Given the description of an element on the screen output the (x, y) to click on. 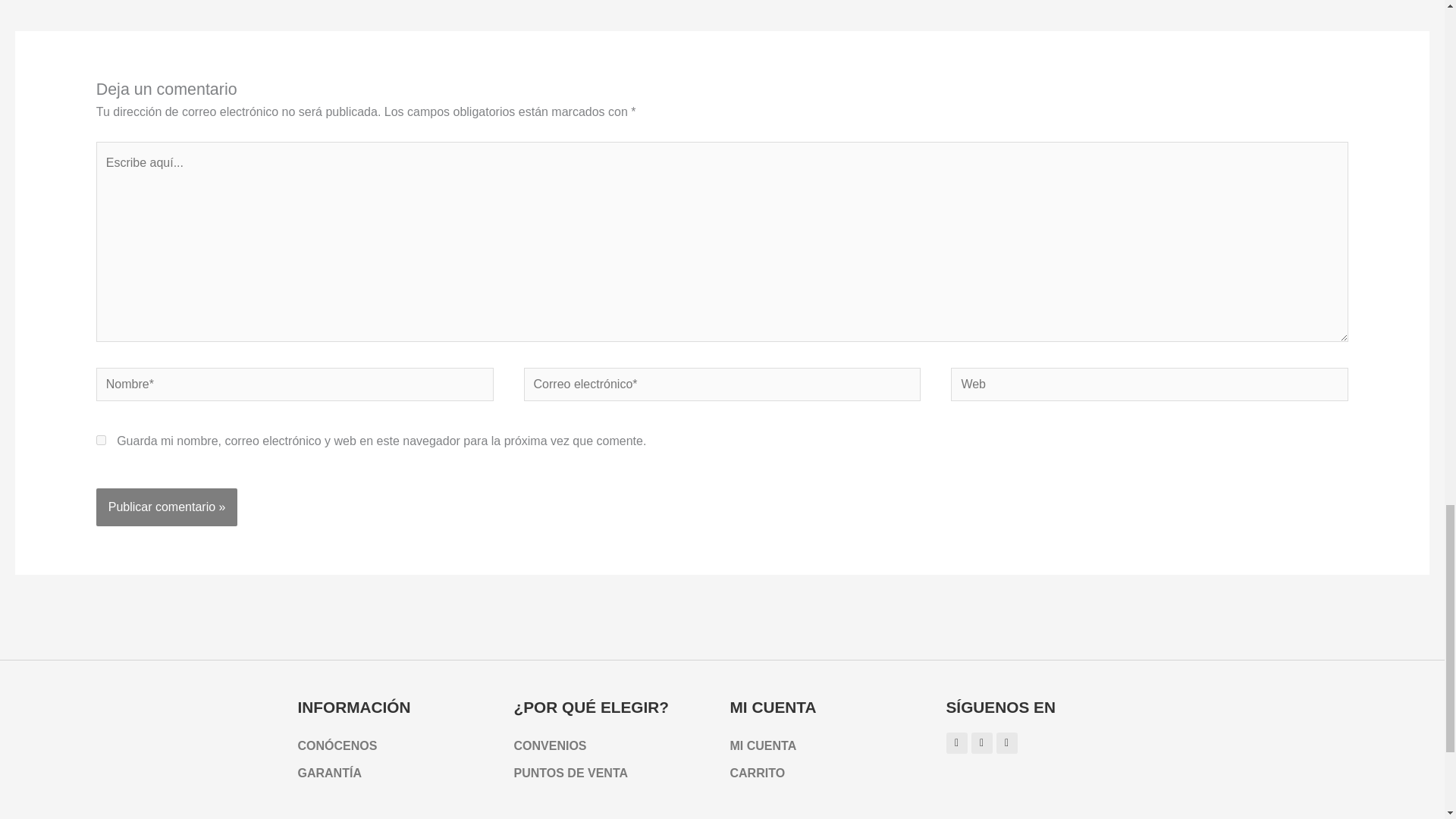
CARRITO (829, 773)
CONVENIOS (613, 746)
PUNTOS DE VENTA (613, 773)
MI CUENTA (829, 746)
Instagram (957, 742)
Pinterest (981, 742)
yes (101, 439)
